Given the description of an element on the screen output the (x, y) to click on. 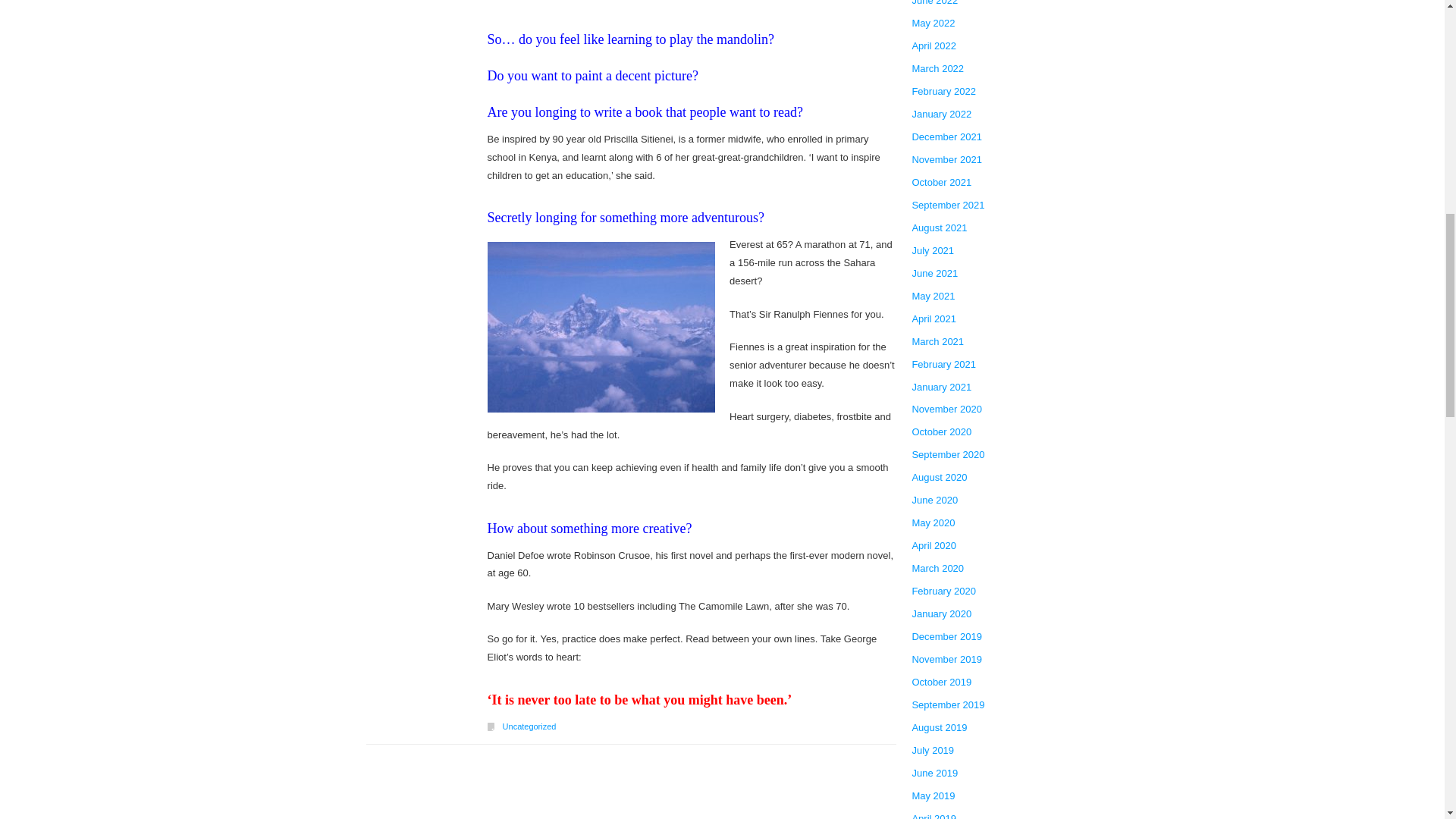
Uncategorized (529, 726)
April 2022 (933, 46)
December 2021 (946, 137)
January 2022 (941, 114)
February 2022 (943, 91)
March 2022 (937, 68)
May 2022 (933, 23)
June 2022 (934, 6)
November 2021 (946, 159)
